Given the description of an element on the screen output the (x, y) to click on. 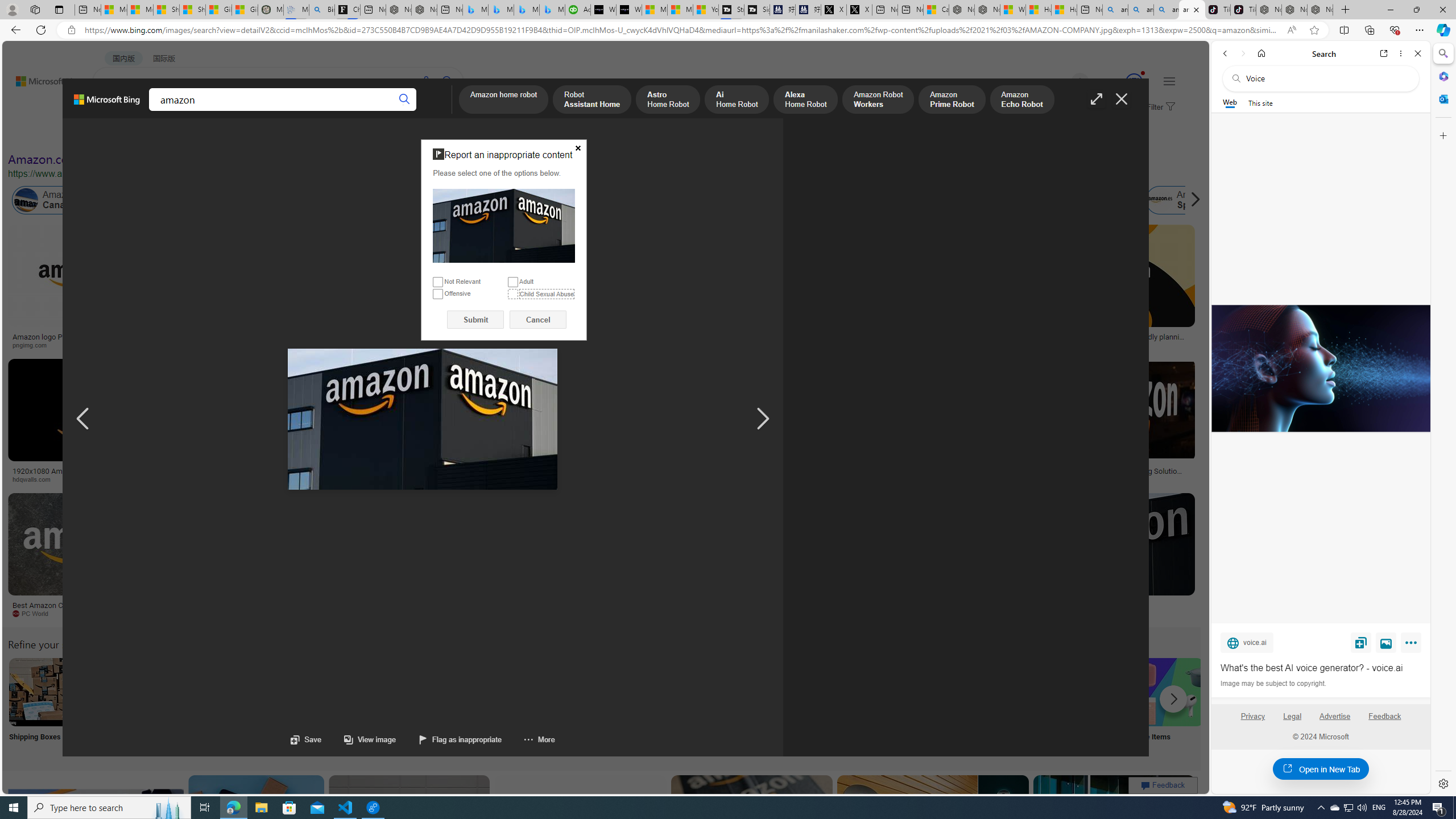
Amazon India (483, 200)
WEB (114, 111)
PC World (83, 613)
Amazon Canada Online (25, 200)
Scroll more suggestions right (1173, 698)
Forward (1242, 53)
Amazon Visa Card Login Visa Card Login (1093, 706)
Save (306, 739)
Amazon Visa Card Login (1093, 691)
Microsoft Rewards 135 (1120, 81)
cordcuttersnews.com (916, 613)
